Given the description of an element on the screen output the (x, y) to click on. 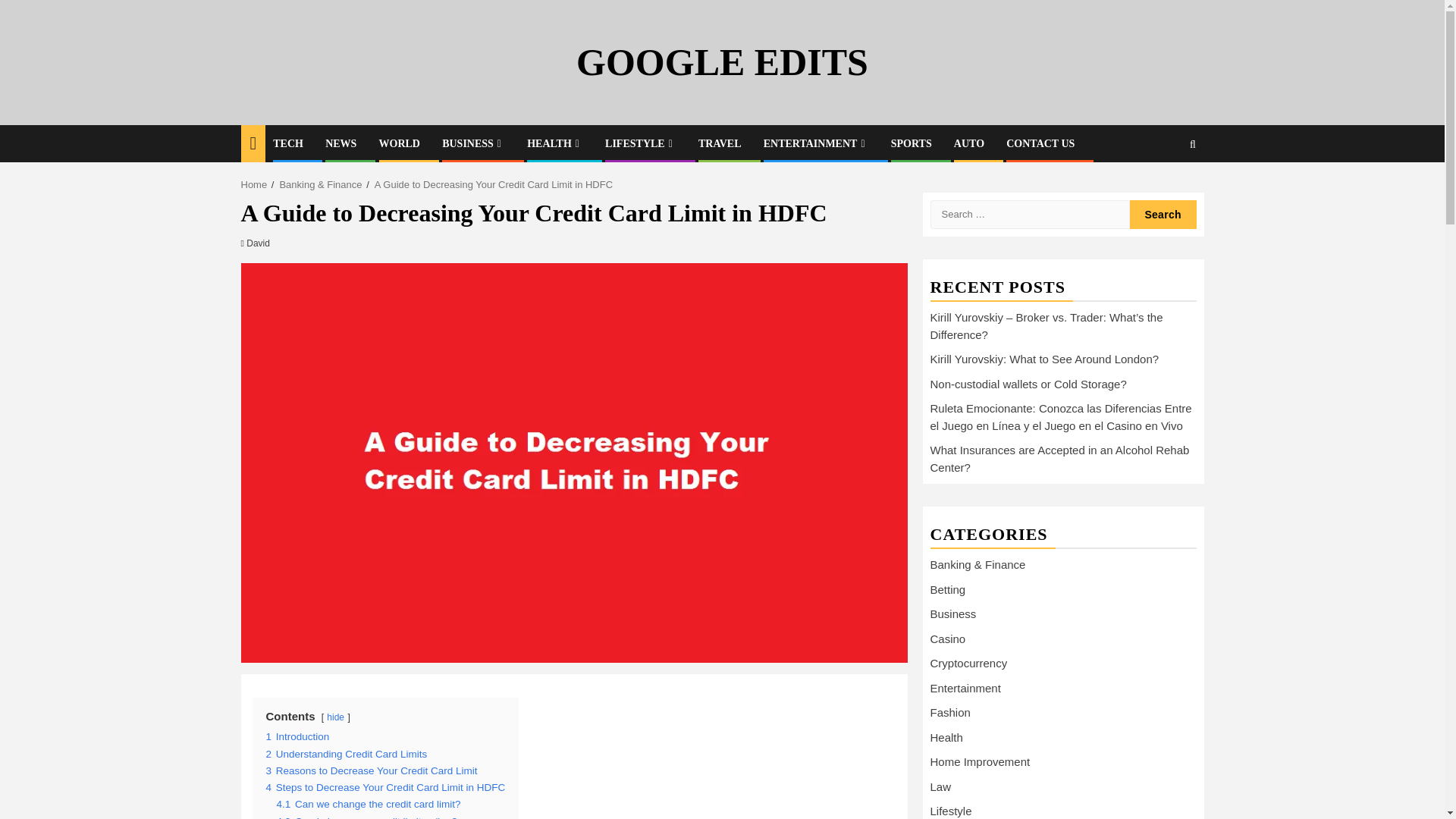
3 Reasons to Decrease Your Credit Card Limit (370, 770)
hide (334, 716)
TRAVEL (719, 143)
GOOGLE EDITS (721, 61)
NEWS (340, 143)
SPORTS (911, 143)
Search (1163, 189)
Search (1162, 214)
HEALTH (555, 143)
AUTO (968, 143)
